Given the description of an element on the screen output the (x, y) to click on. 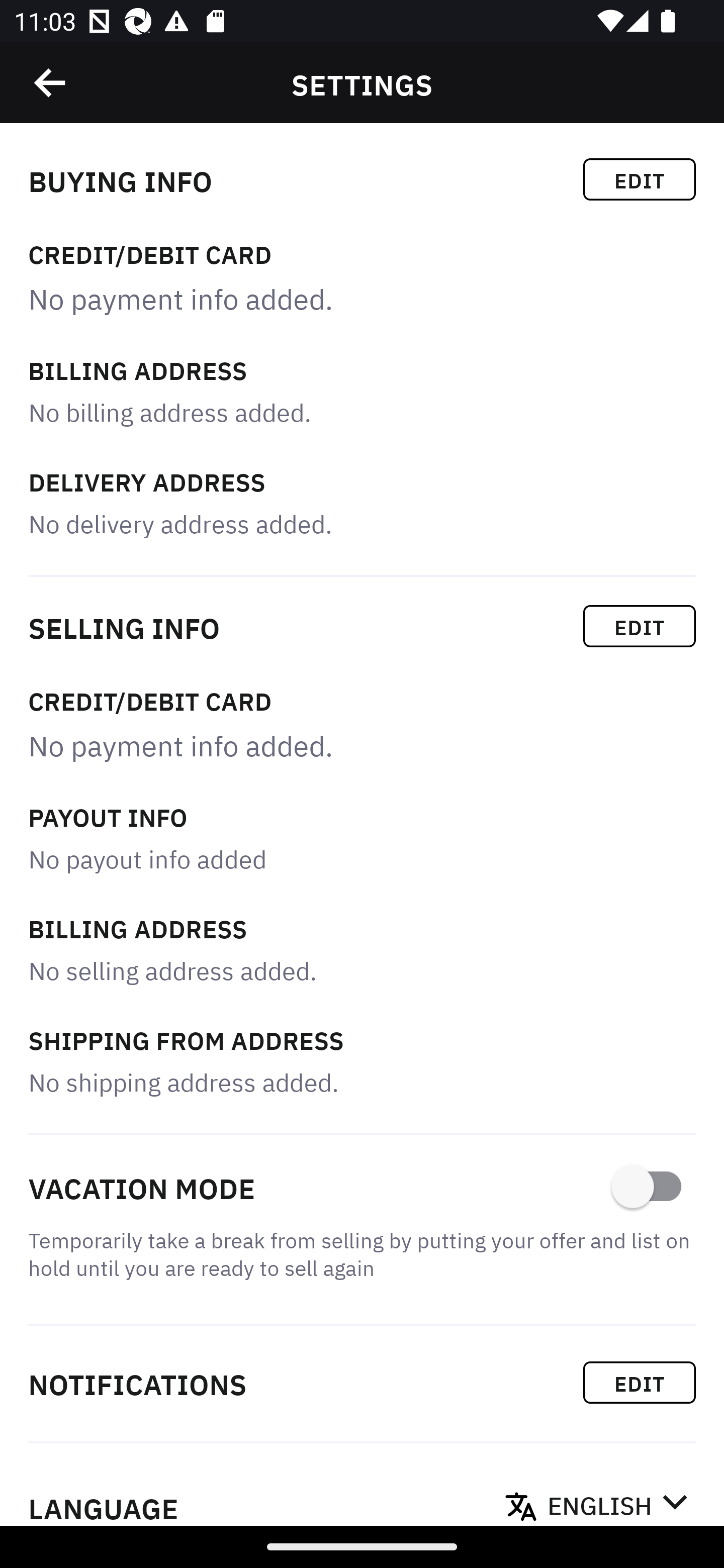
 (50, 83)
EDIT (639, 179)
EDIT (639, 626)
EDIT (639, 1382)
ENGLISH  (617, 1499)
